Given the description of an element on the screen output the (x, y) to click on. 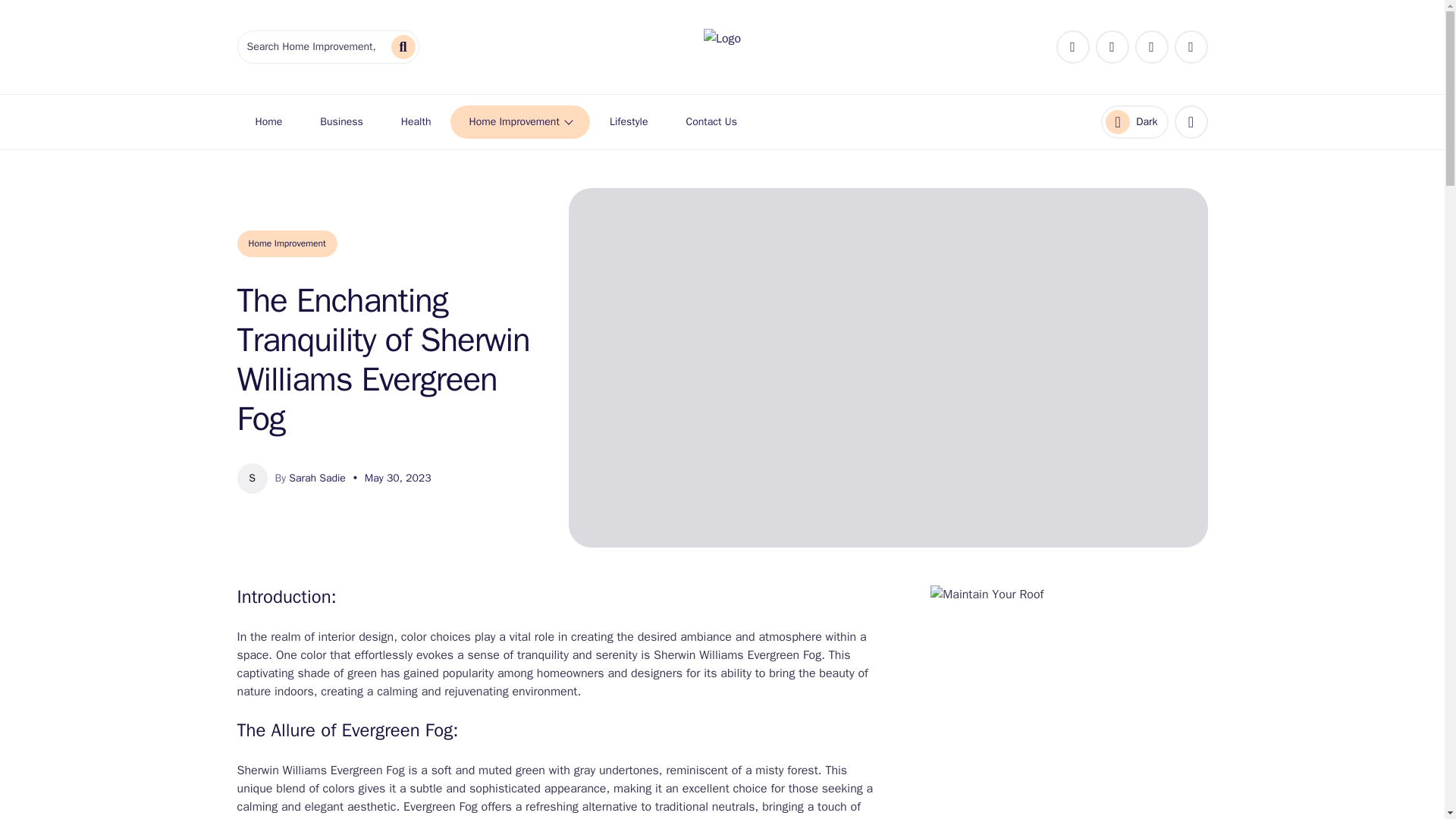
Home (267, 121)
By Sarah Sadie (310, 477)
Health (415, 121)
Lifestyle (628, 121)
Contact Us (711, 121)
youtube (1133, 121)
instagram (1150, 46)
Home Improvement (1111, 46)
twitter (519, 121)
